Given the description of an element on the screen output the (x, y) to click on. 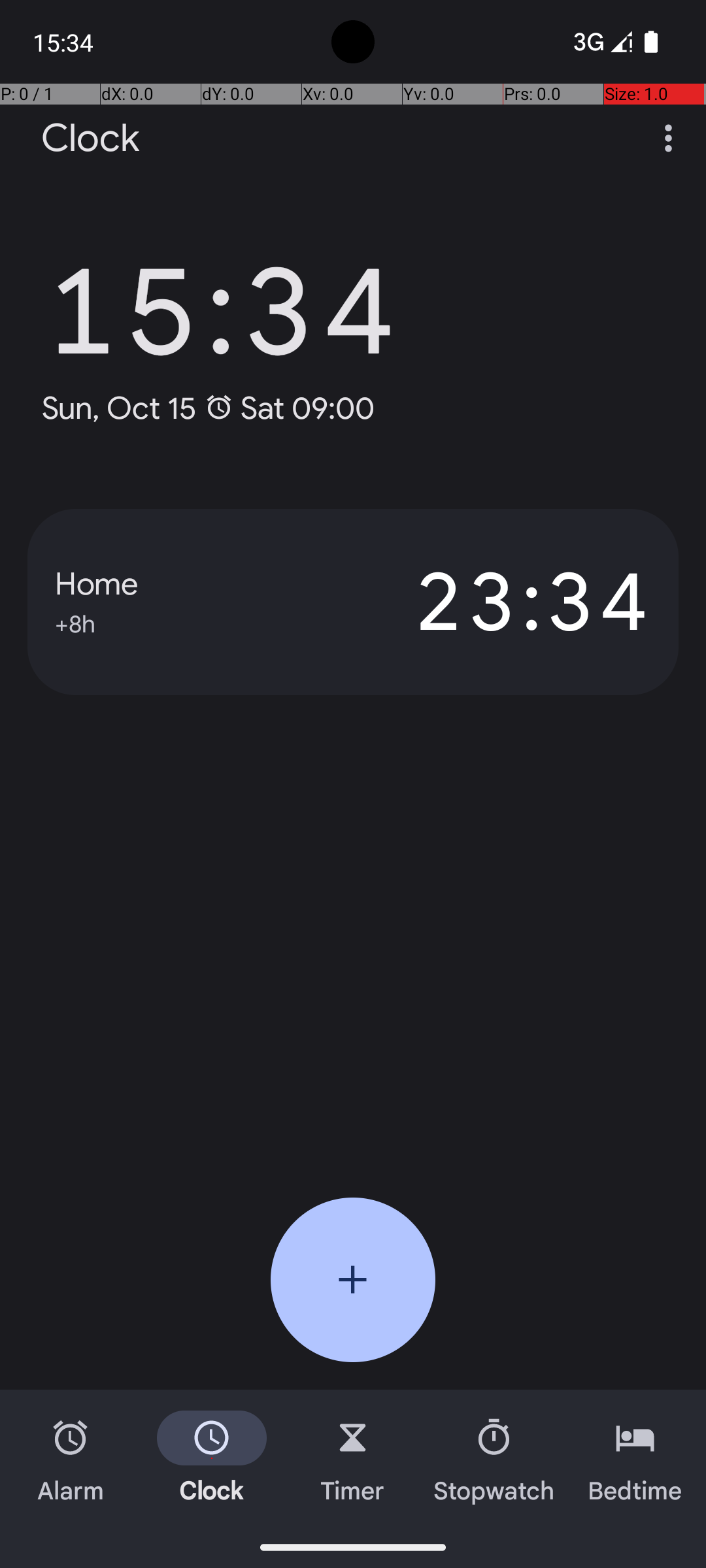
Sun, Oct 15 A Sat 09:00 Element type: android.widget.TextView (207, 407)
+8h Element type: android.widget.TextView (74, 621)
23:34 Element type: android.widget.TextView (502, 601)
